Given the description of an element on the screen output the (x, y) to click on. 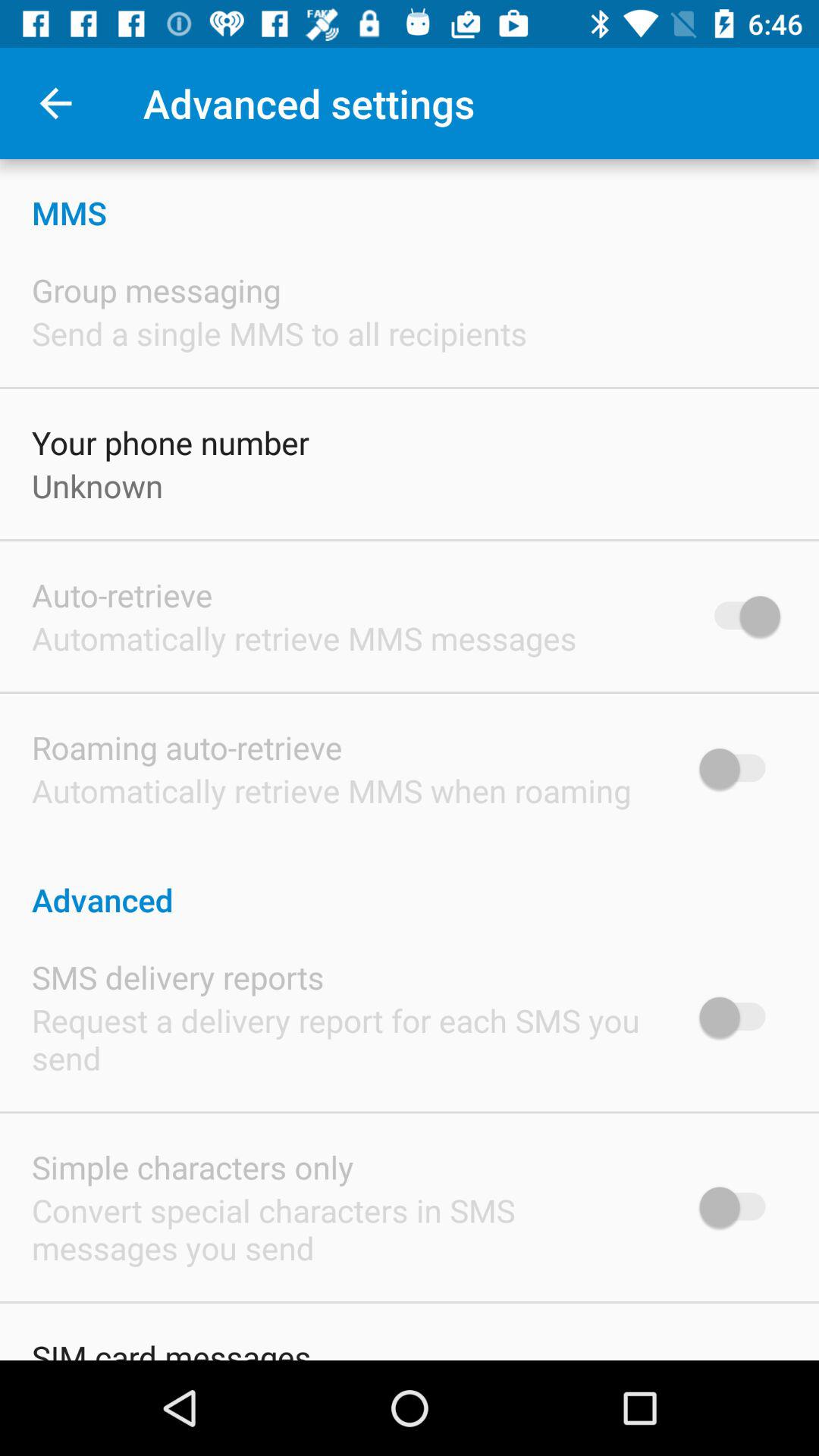
turn on group messaging item (155, 289)
